Given the description of an element on the screen output the (x, y) to click on. 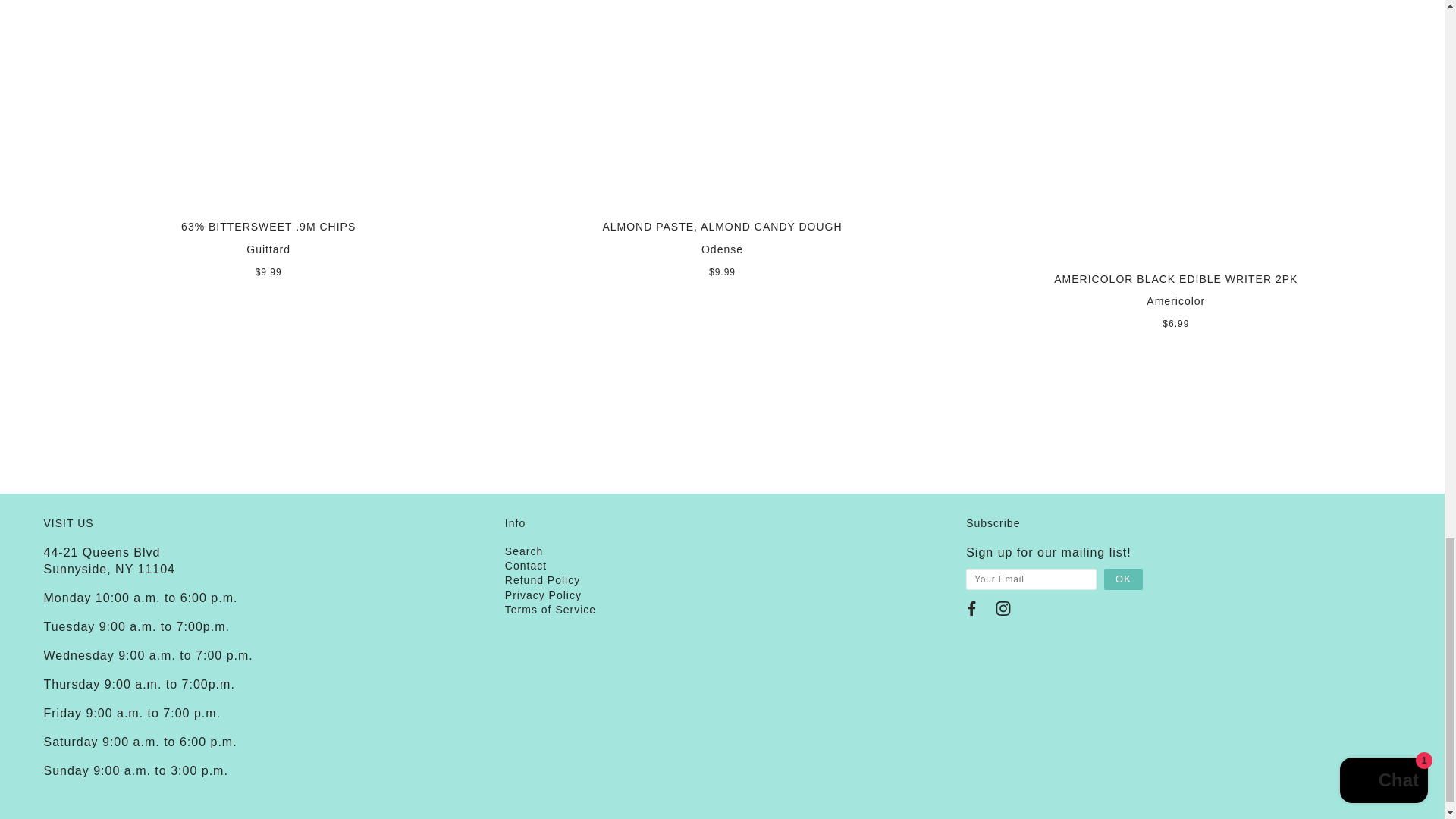
Contact (526, 565)
Privacy Policy (542, 594)
OK (1122, 578)
Terms of Service (550, 609)
Refund Policy (542, 580)
Search (524, 551)
